Given the description of an element on the screen output the (x, y) to click on. 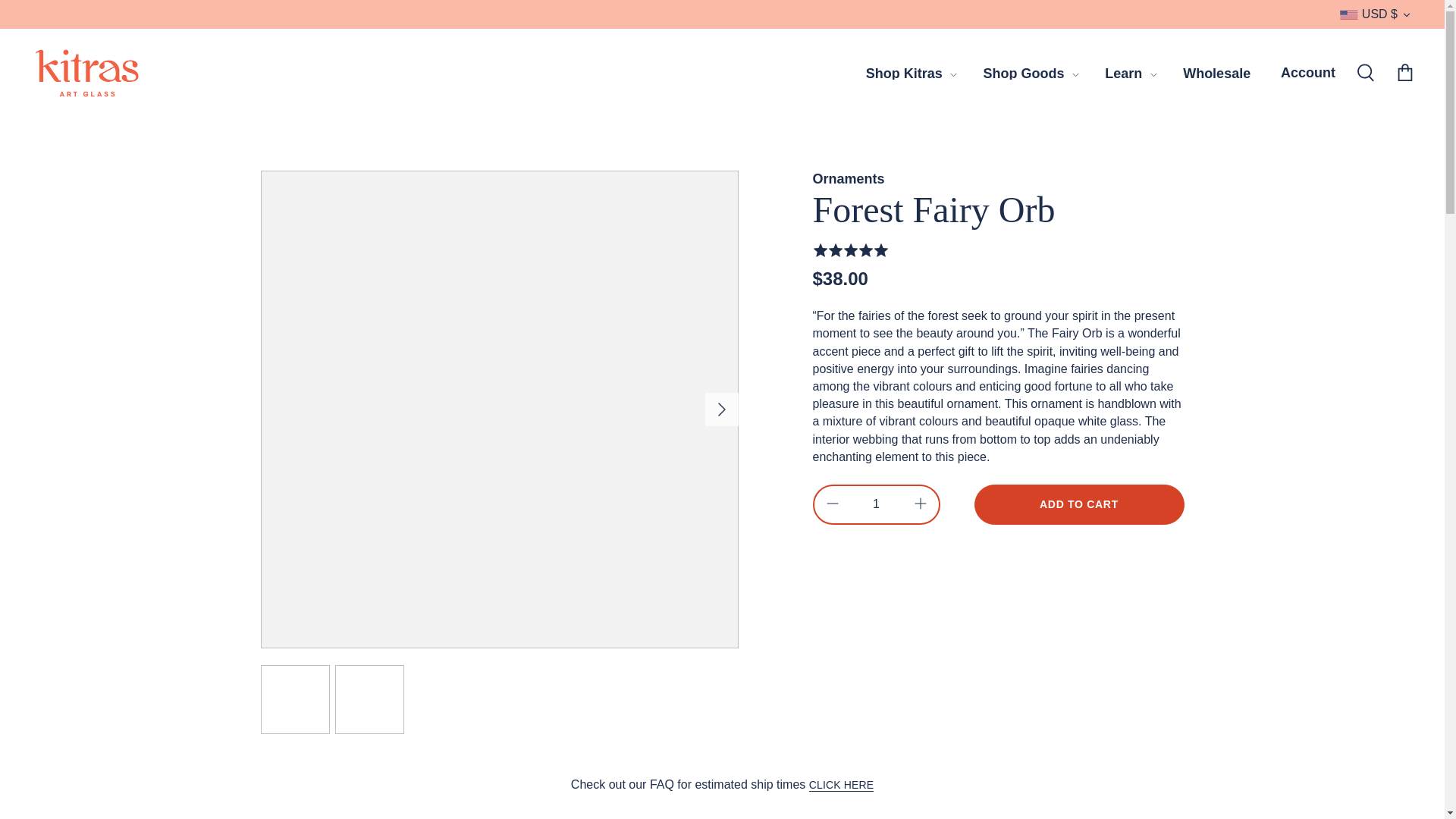
Kitras Art Glass Inc (87, 73)
Shop Kitras (903, 73)
Down (1406, 14)
1 (877, 504)
Shop Goods (1023, 73)
Account (1308, 72)
FAQ (841, 784)
Right (721, 409)
Learn (1123, 73)
Wholesale (1216, 73)
Minus (832, 503)
Plus (920, 503)
